Given the description of an element on the screen output the (x, y) to click on. 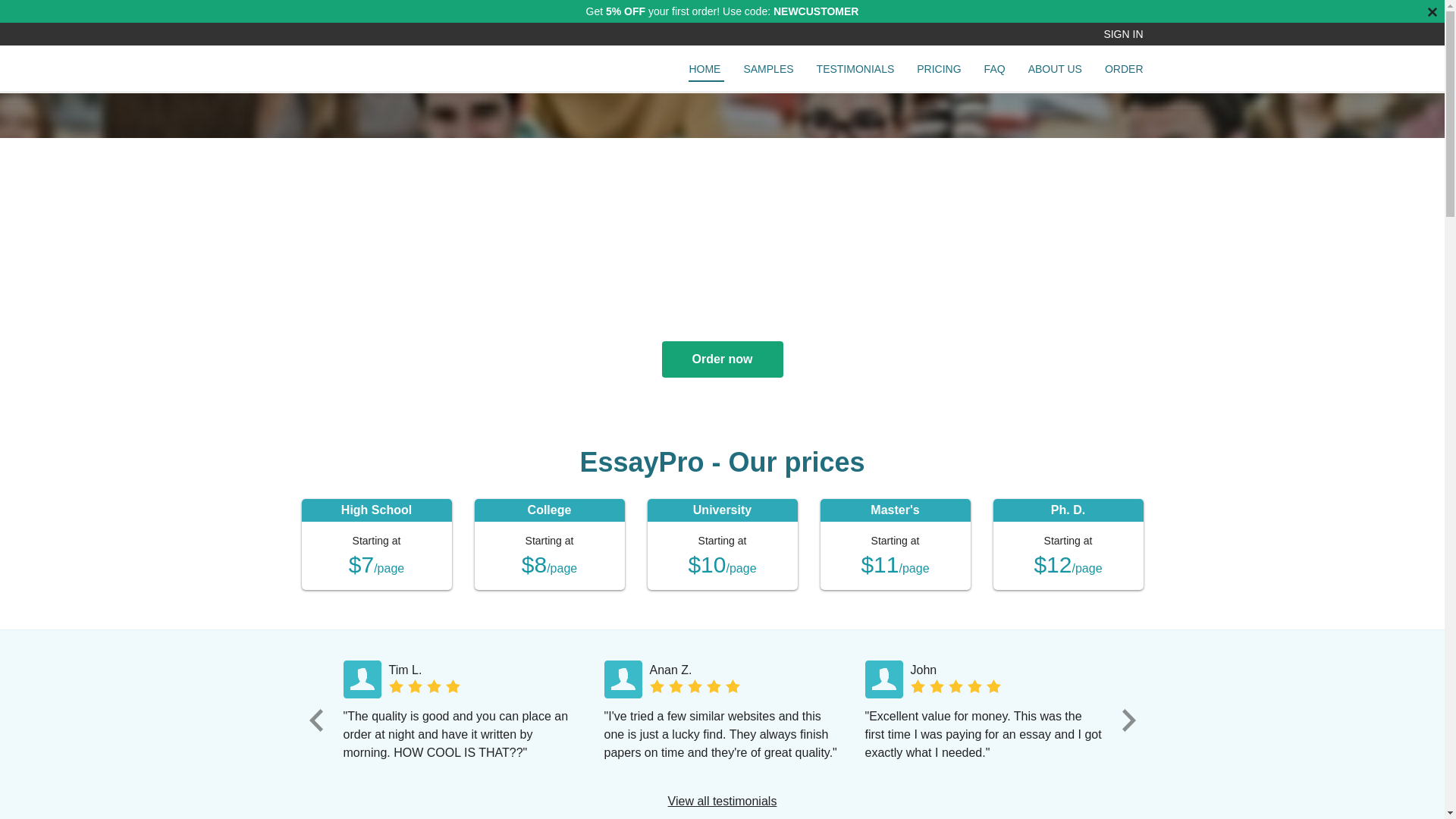
SAMPLES (767, 71)
View all testimonials (722, 800)
SIGN IN (1116, 33)
ORDER (1123, 71)
Order now (722, 359)
NEWCUSTOMER (816, 10)
HOME (705, 72)
PRICING (937, 71)
ABOUT US (1055, 71)
FAQ (994, 71)
